Given the description of an element on the screen output the (x, y) to click on. 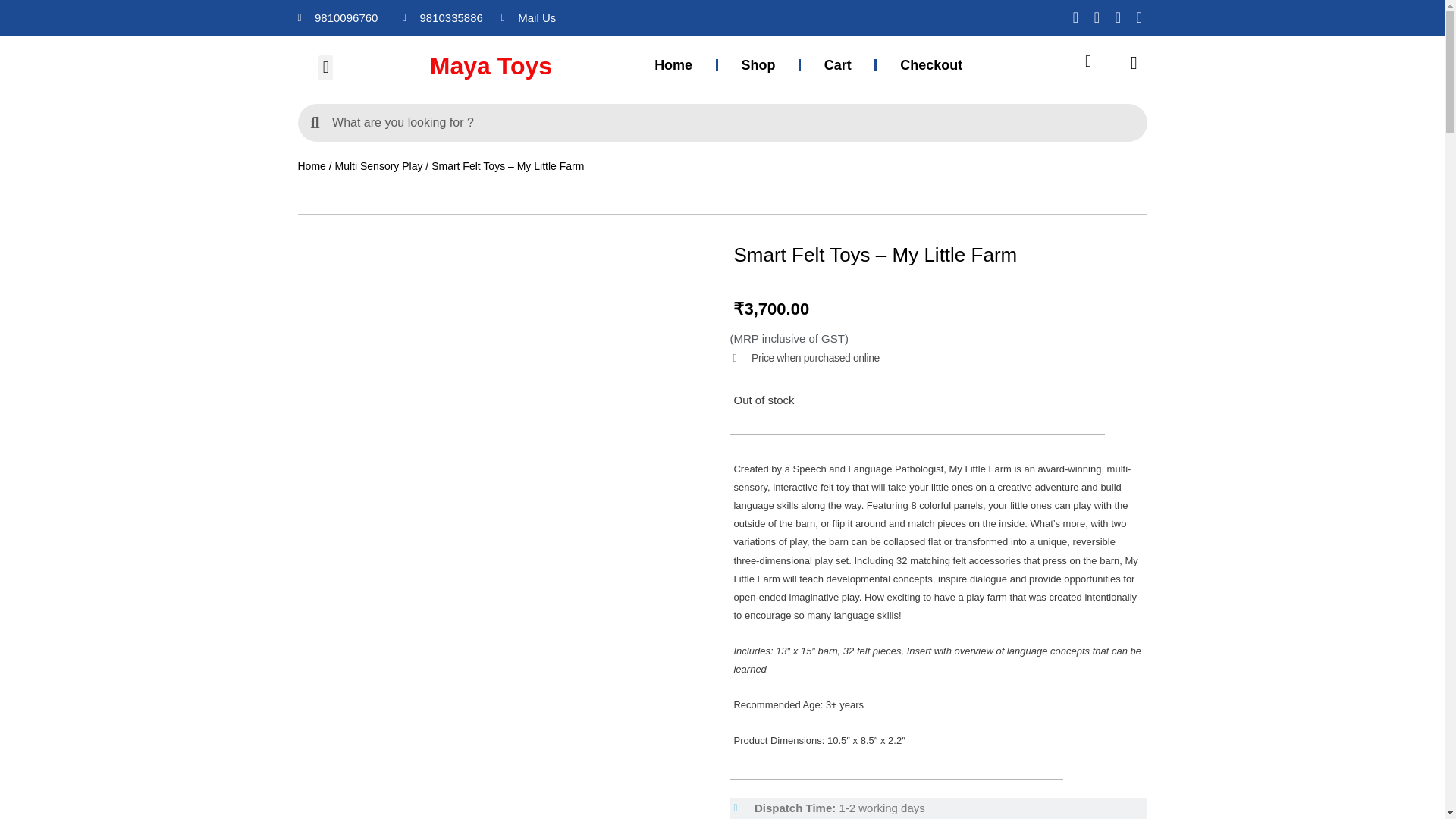
Instagram (1096, 17)
Cart (837, 64)
Facebook (1075, 17)
Linkedin (1139, 17)
Maya Toys (522, 66)
9810335886 (444, 17)
Checkout (930, 64)
Twitter (1117, 17)
Home (672, 64)
Mail Us (591, 17)
